Given the description of an element on the screen output the (x, y) to click on. 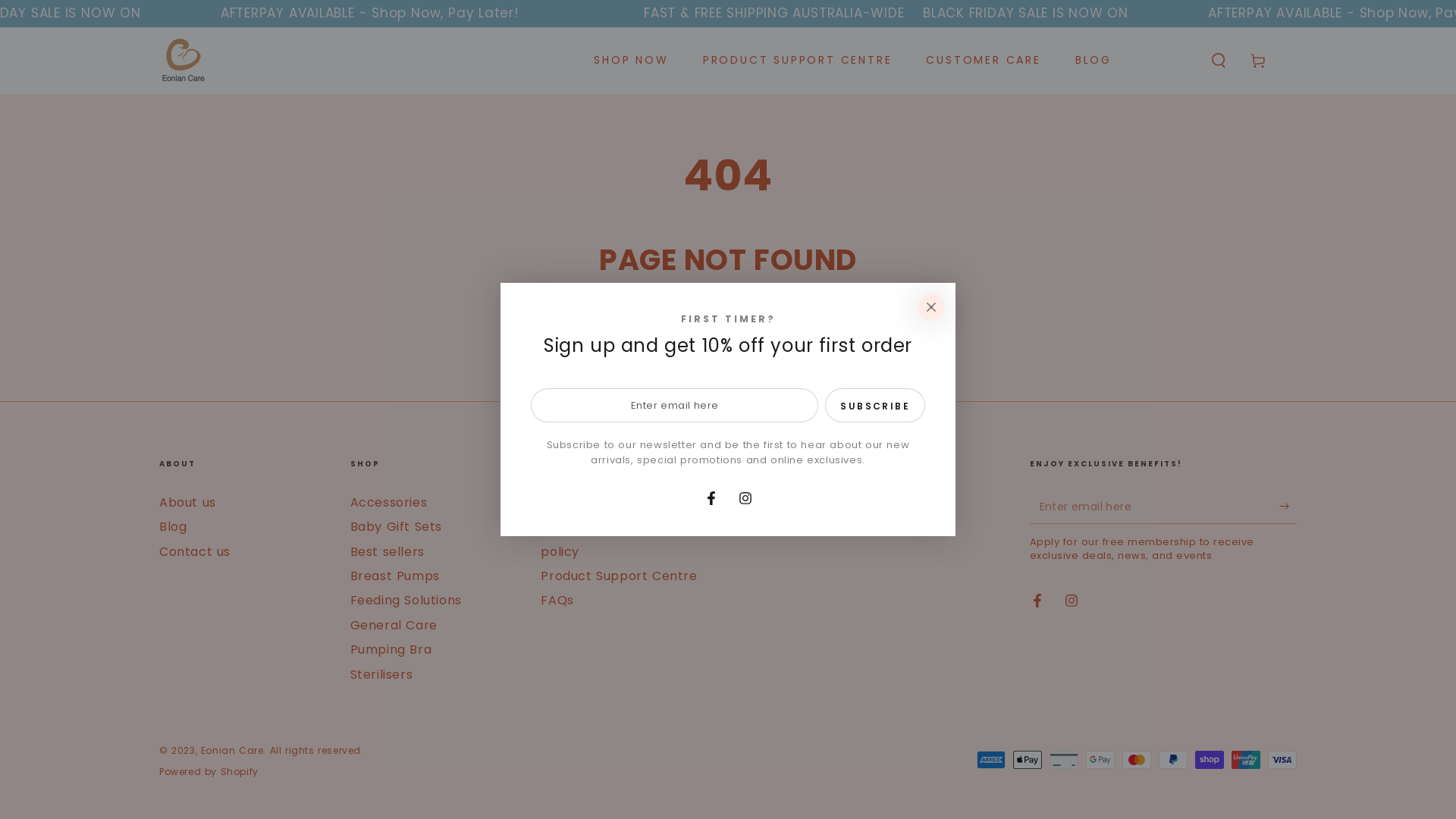
SHOP NOW Element type: text (630, 59)
CUSTOMER CARE Element type: text (982, 59)
Instagram Element type: text (1070, 600)
Best sellers Element type: text (387, 551)
Feeding Solutions Element type: text (405, 599)
FAQs Element type: text (556, 599)
About us Element type: text (187, 502)
Sterilisers Element type: text (381, 674)
RETURN TO SHOP Element type: text (727, 331)
Pumping Bra Element type: text (391, 649)
Blog Element type: text (172, 526)
BLOG Element type: text (1093, 59)
PRODUCT SUPPORT CENTRE Element type: text (797, 59)
Facebook Element type: text (1037, 600)
Eonian Care Element type: text (231, 749)
Customer Care Element type: text (590, 502)
Accessories Element type: text (388, 502)
Product Support Centre Element type: text (618, 575)
General Care Element type: text (393, 624)
SUBSCRIBE Element type: text (875, 405)
Contact us Element type: text (194, 551)
Baby Gift Sets Element type: text (396, 526)
Powered by Shopify Element type: text (208, 771)
Facebook Element type: text (711, 498)
Breast Pumps Element type: text (394, 575)
Instagram Element type: text (744, 498)
Delivery and shipping policy Element type: text (609, 538)
